Given the description of an element on the screen output the (x, y) to click on. 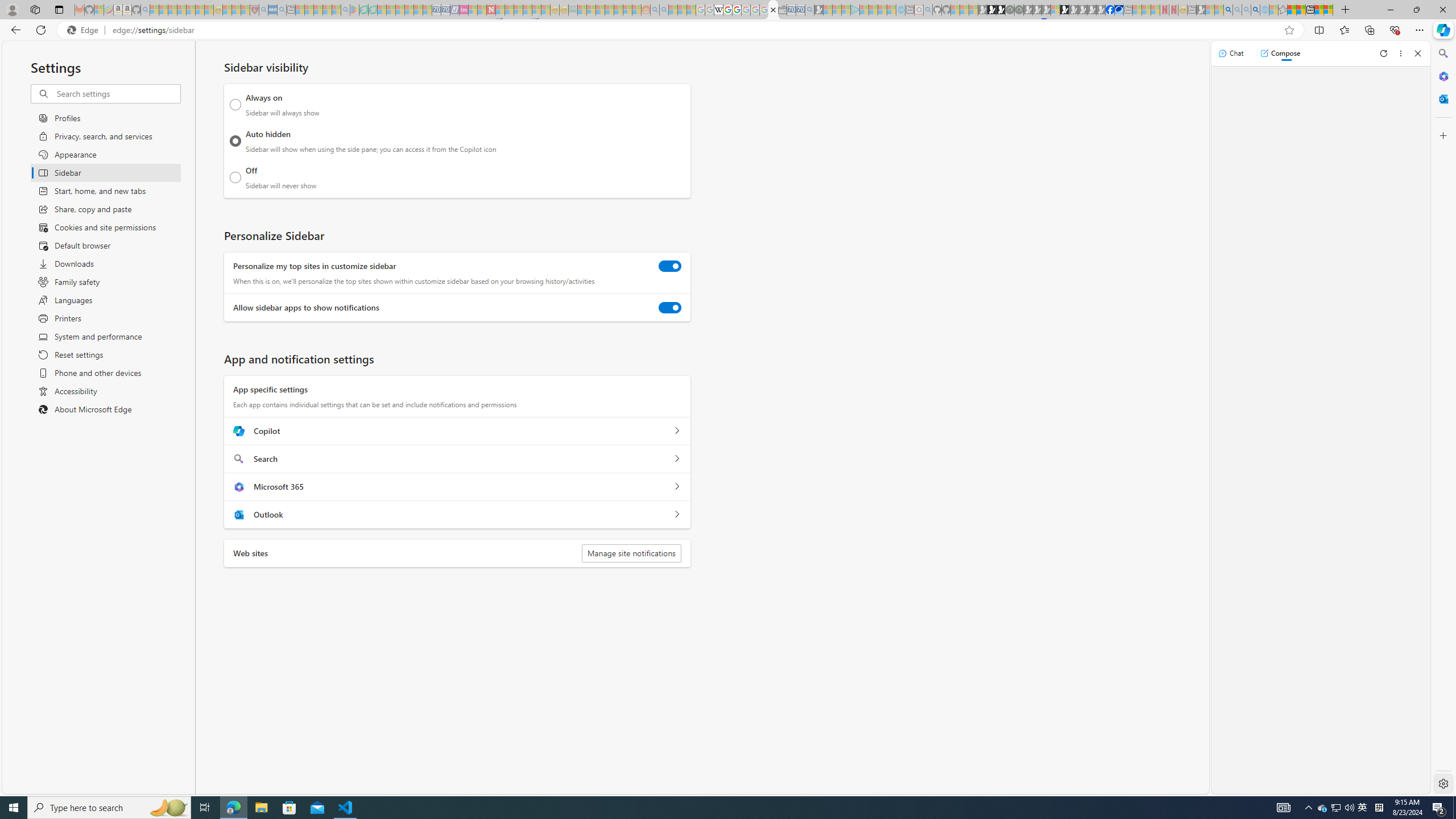
Always on Sidebar will always show (235, 104)
Bing Real Estate - Home sales and rental listings - Sleeping (809, 9)
Play Zoo Boom in your browser | Games from Microsoft Start (991, 9)
Wallet - Sleeping (782, 9)
utah sues federal government - Search - Sleeping (281, 9)
Nordace | Facebook (1109, 9)
